Given the description of an element on the screen output the (x, y) to click on. 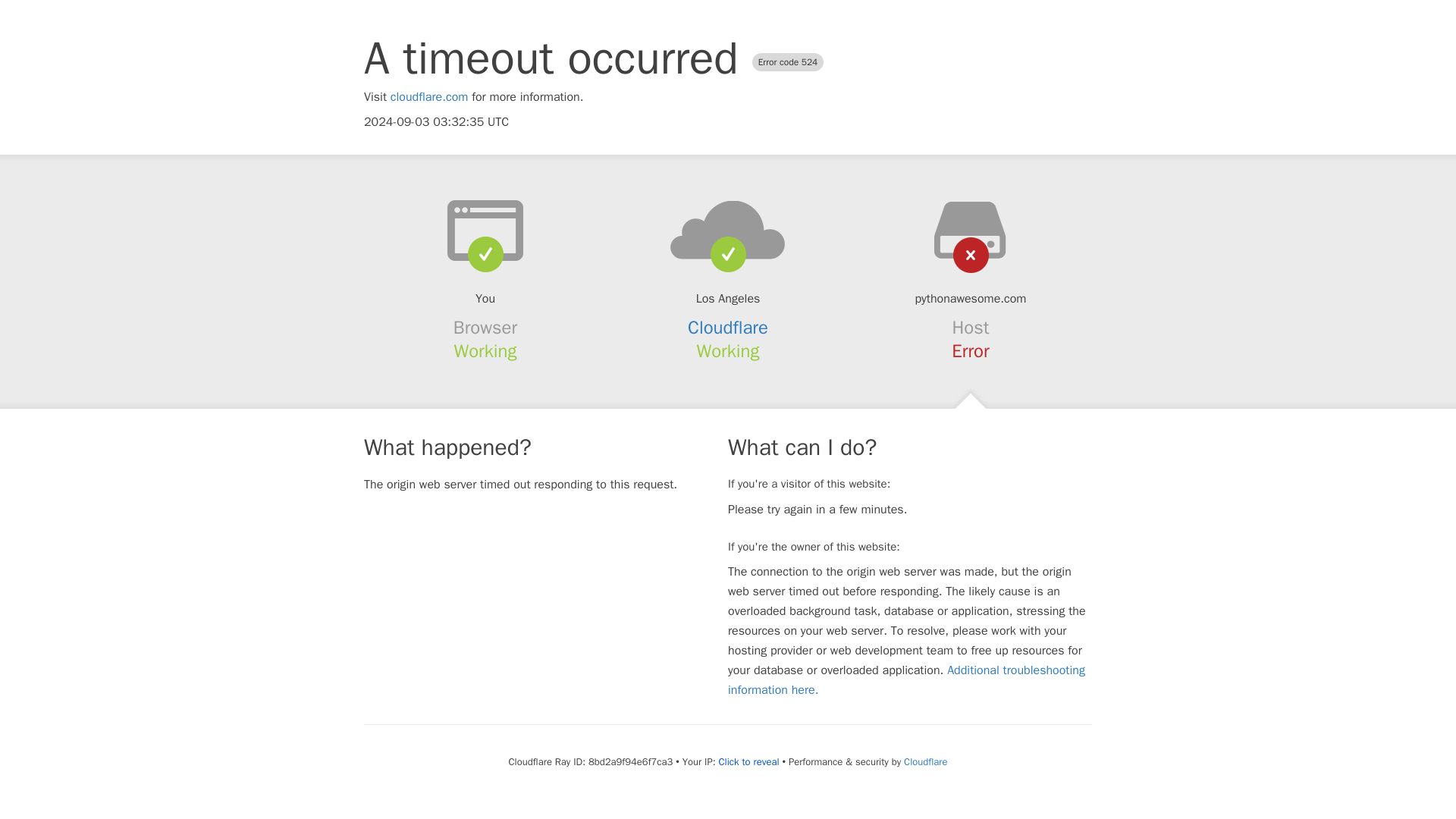
Cloudflare (727, 327)
Cloudflare (925, 761)
Additional troubleshooting information here. (906, 679)
Click to reveal (748, 762)
cloudflare.com (429, 96)
